Given the description of an element on the screen output the (x, y) to click on. 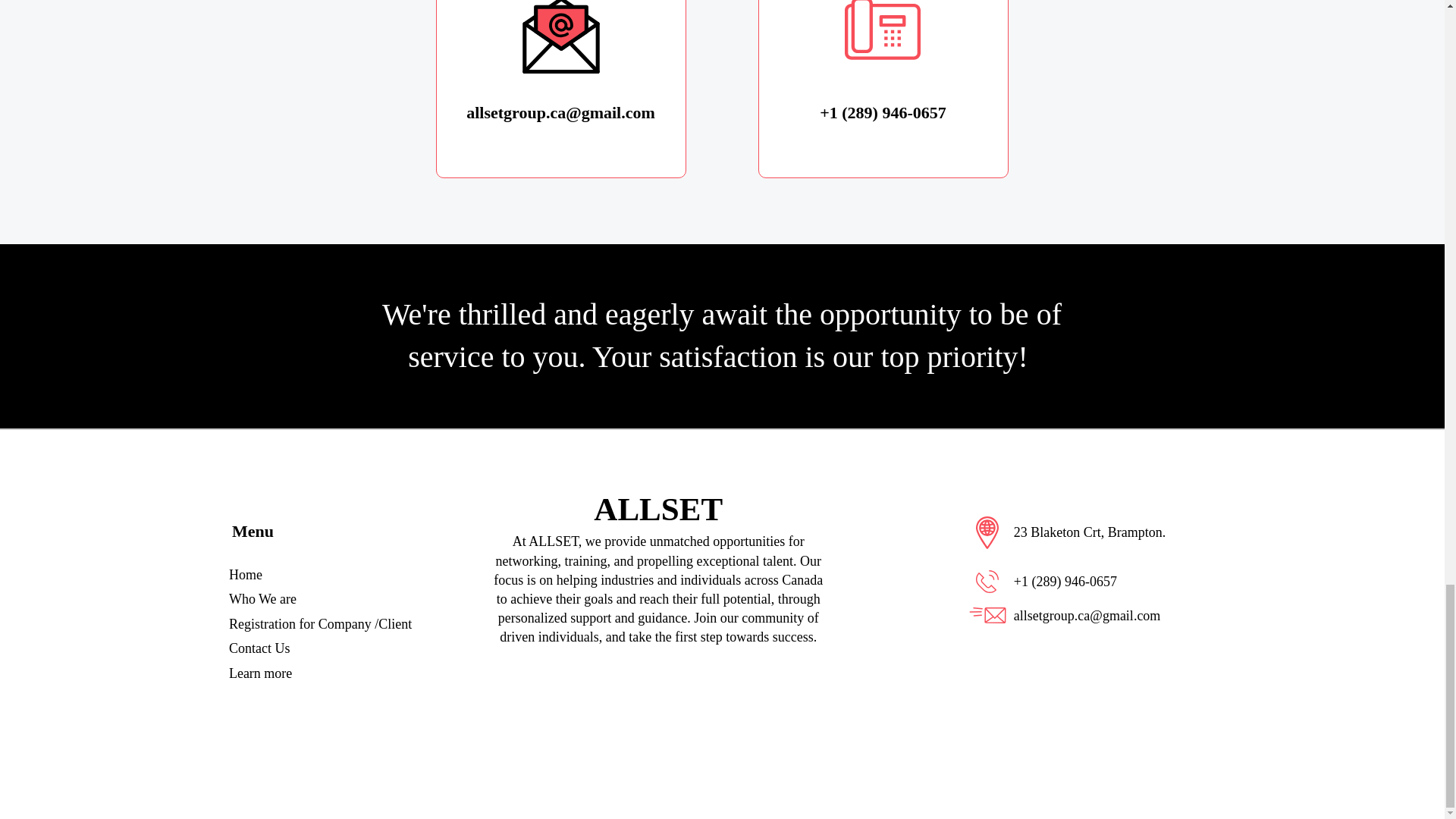
ALLSET (658, 509)
Home (245, 574)
Contact Us (258, 648)
Learn more (260, 672)
Who We are (262, 598)
